Given the description of an element on the screen output the (x, y) to click on. 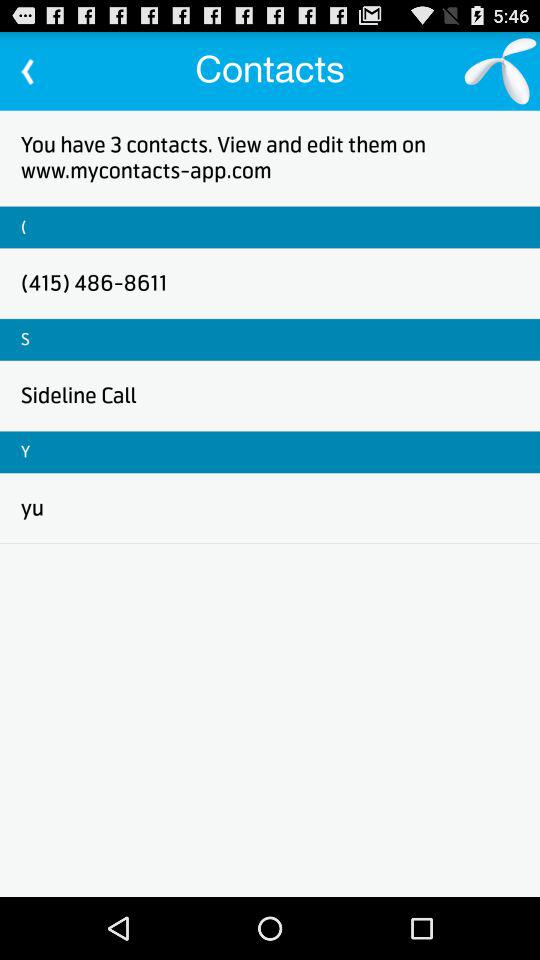
select the icon below the ( (94, 282)
